Given the description of an element on the screen output the (x, y) to click on. 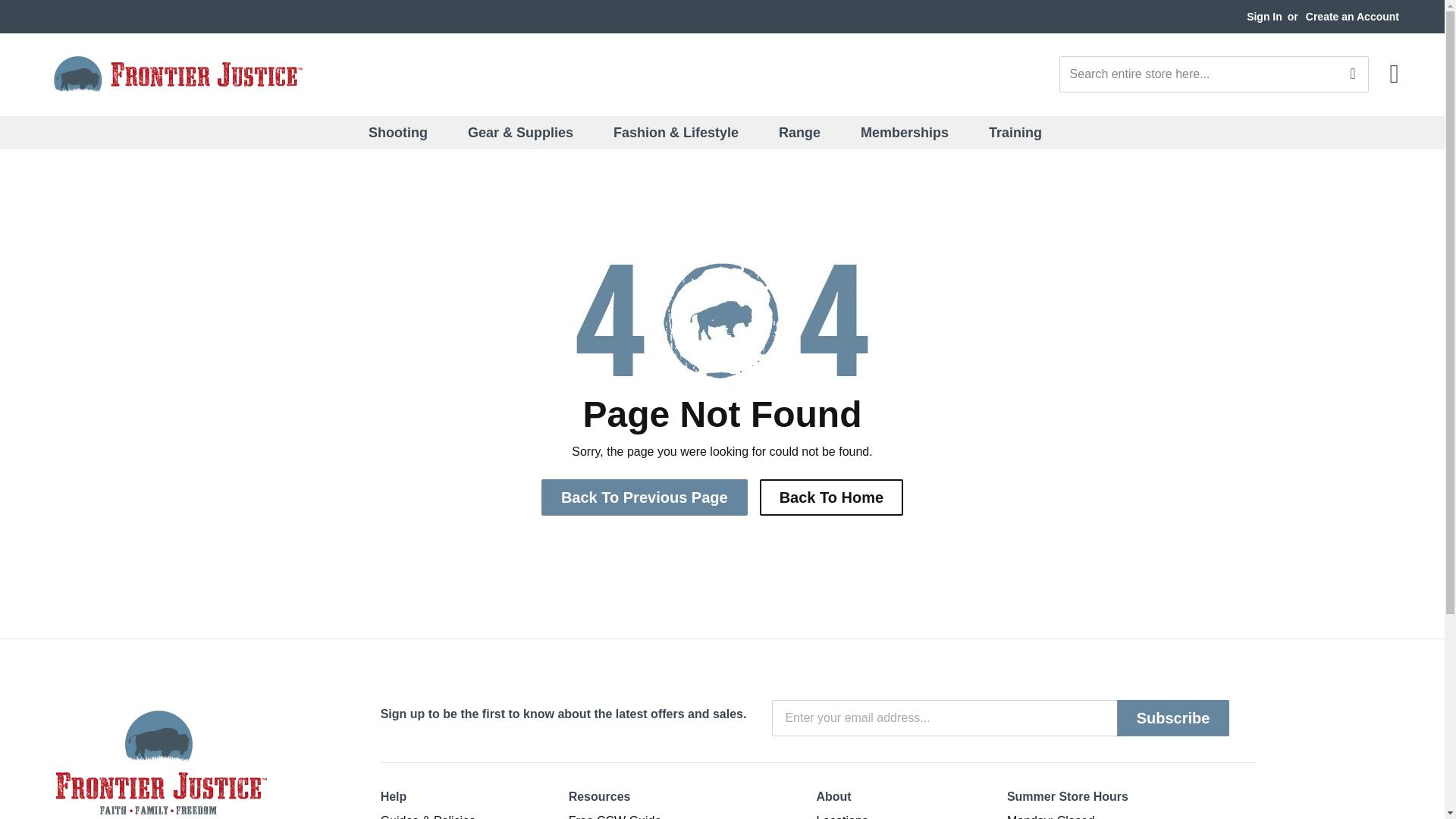
Frontier Justice Logo (178, 73)
Sign In (1264, 16)
Shooting (407, 132)
Create an Account (1352, 16)
